Given the description of an element on the screen output the (x, y) to click on. 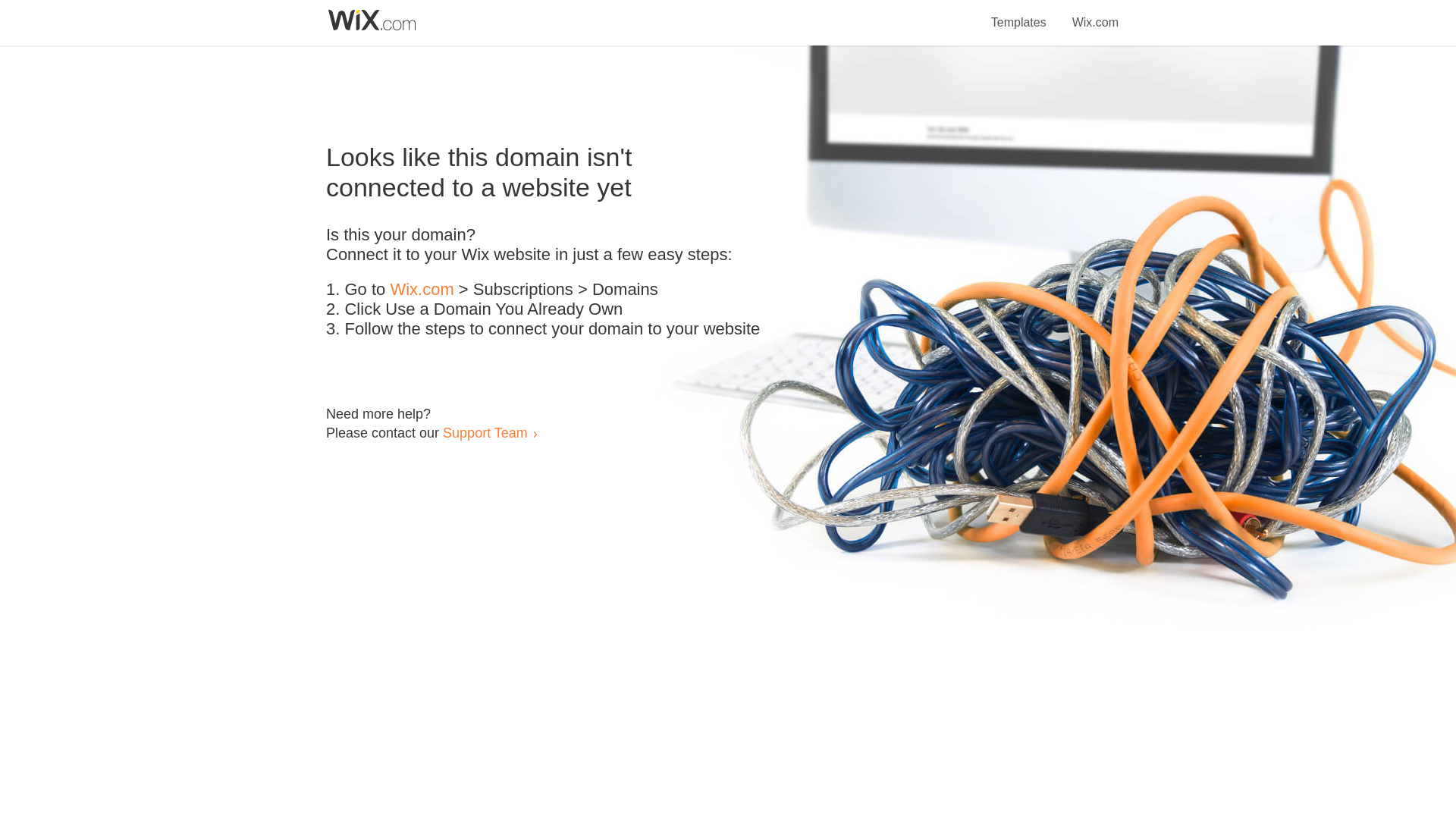
Support Team (484, 432)
Wix.com (1095, 14)
Wix.com (421, 289)
Templates (1018, 14)
